Given the description of an element on the screen output the (x, y) to click on. 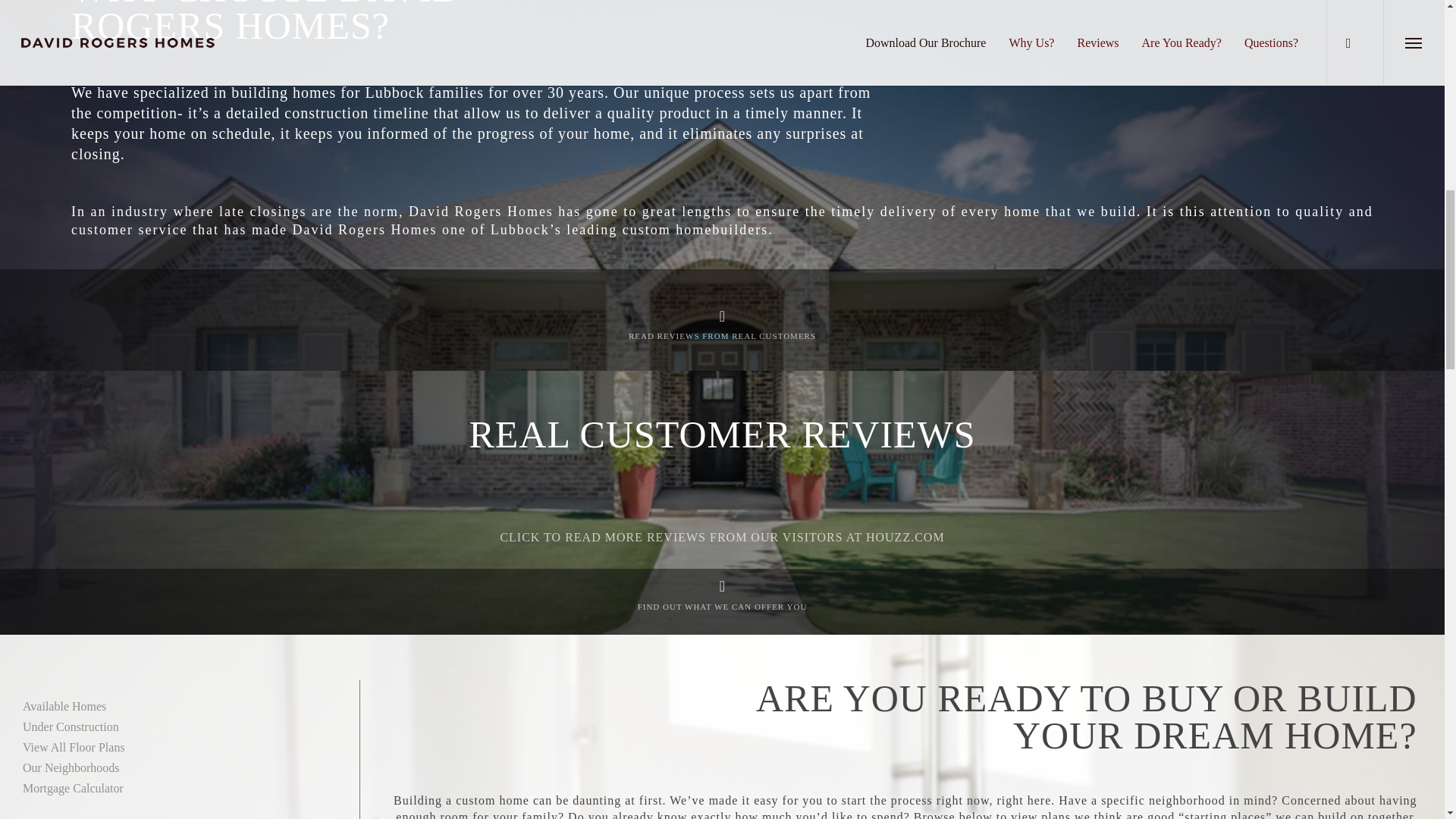
View All Floor Plans (74, 747)
Our Neighborhoods (71, 767)
CLICK TO READ MORE REVIEWS FROM OUR VISITORS AT HOUZZ.COM (721, 536)
FIND OUT WHAT WE CAN OFFER YOU (722, 605)
Under Construction (71, 726)
READ REVIEWS FROM REAL CUSTOMERS (721, 335)
Mortgage Calculator (73, 788)
Available Homes (64, 706)
